Given the description of an element on the screen output the (x, y) to click on. 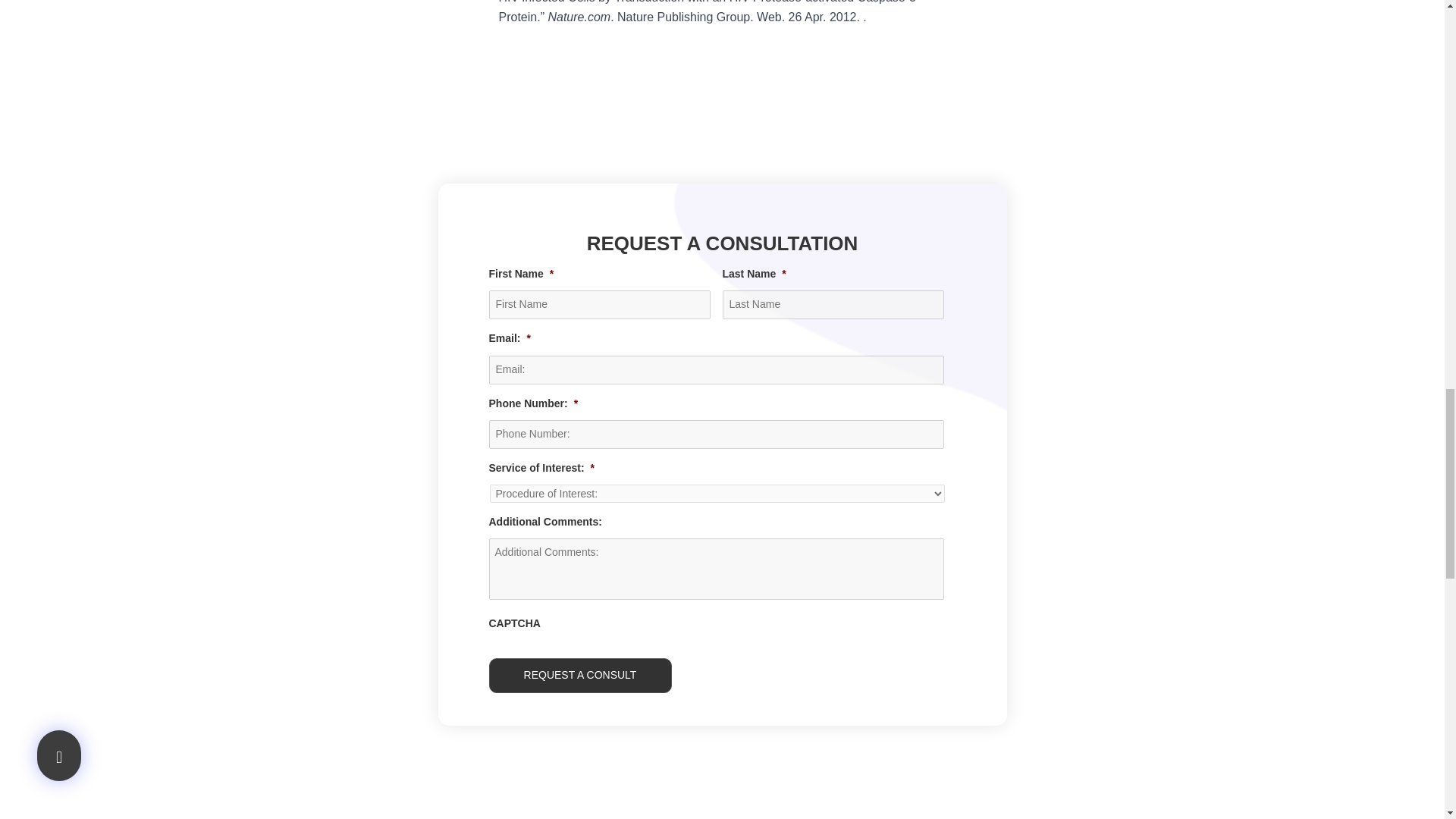
Request a consult (579, 675)
Request a consult (579, 675)
